Given the description of an element on the screen output the (x, y) to click on. 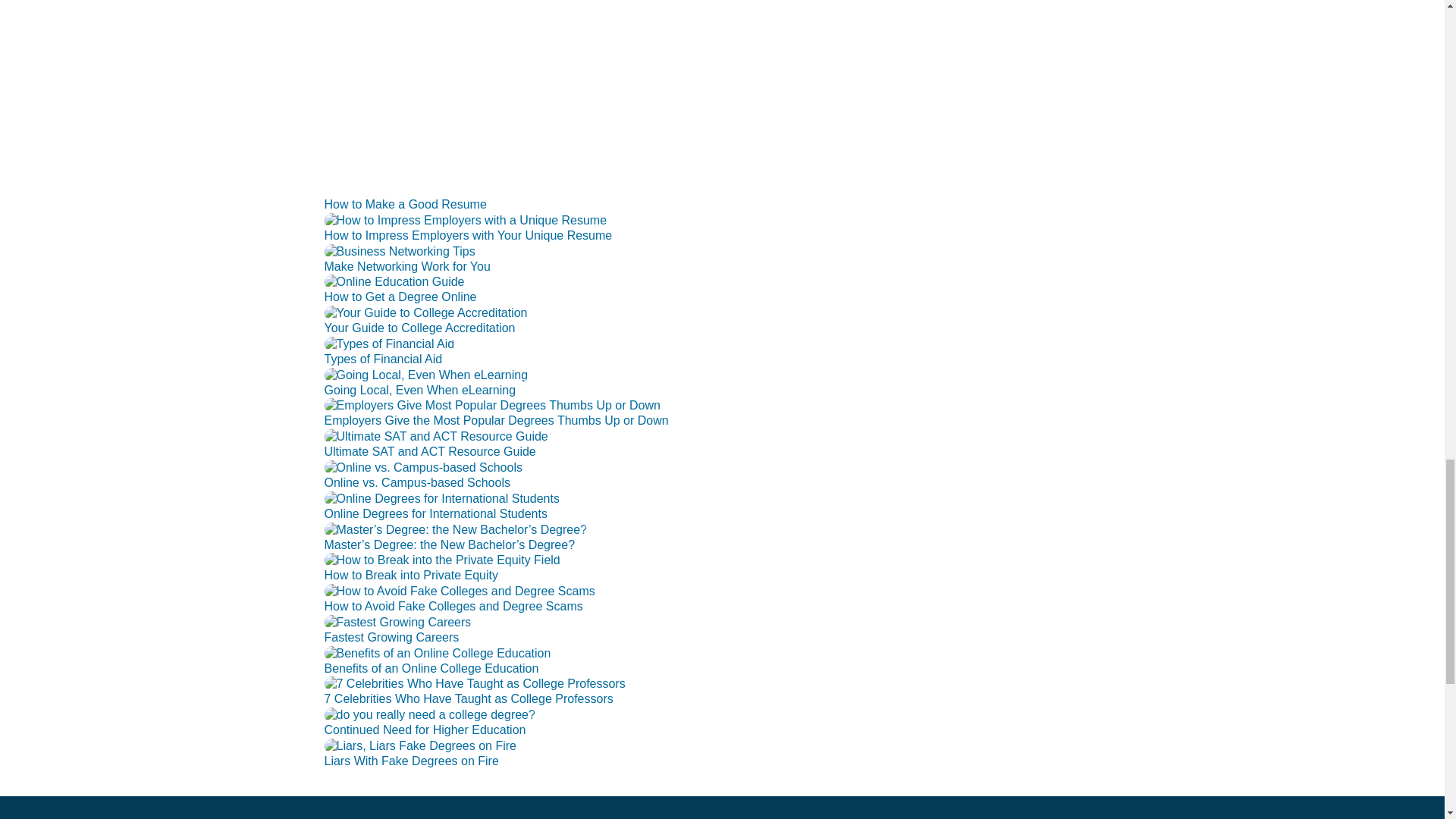
Types of Financial Aid (383, 358)
How to Impress Employers with Your Unique Resume (468, 235)
How to Get a Degree Online (400, 296)
Your Guide to College Accreditation (419, 327)
How to Make a Good Resume (405, 204)
Impress Employers with a Unique Resume (465, 220)
Make Networking Work for You (400, 251)
Make Networking Work for You (407, 266)
